Given the description of an element on the screen output the (x, y) to click on. 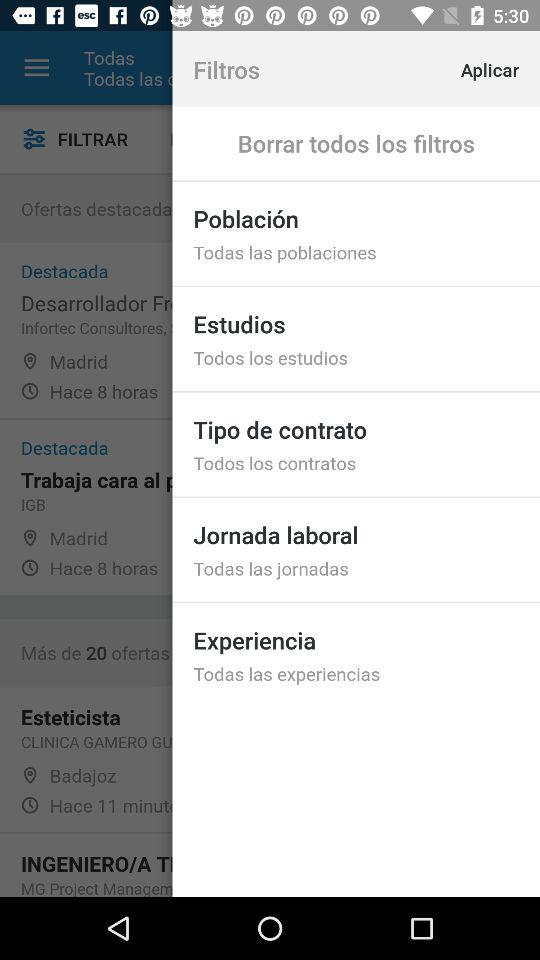
swipe until borrar todos los item (356, 143)
